Given the description of an element on the screen output the (x, y) to click on. 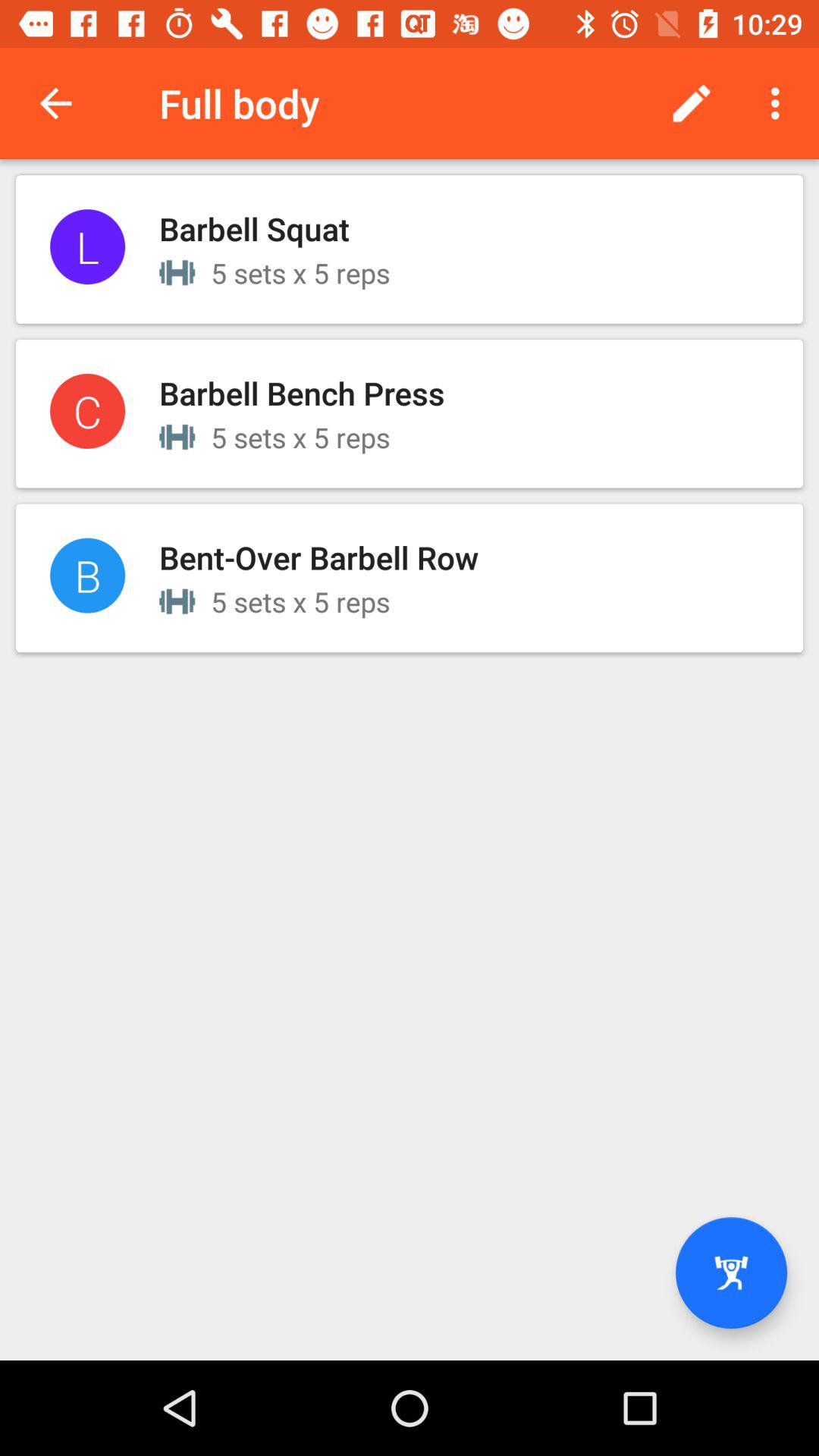
click icon at the bottom right corner (731, 1272)
